Given the description of an element on the screen output the (x, y) to click on. 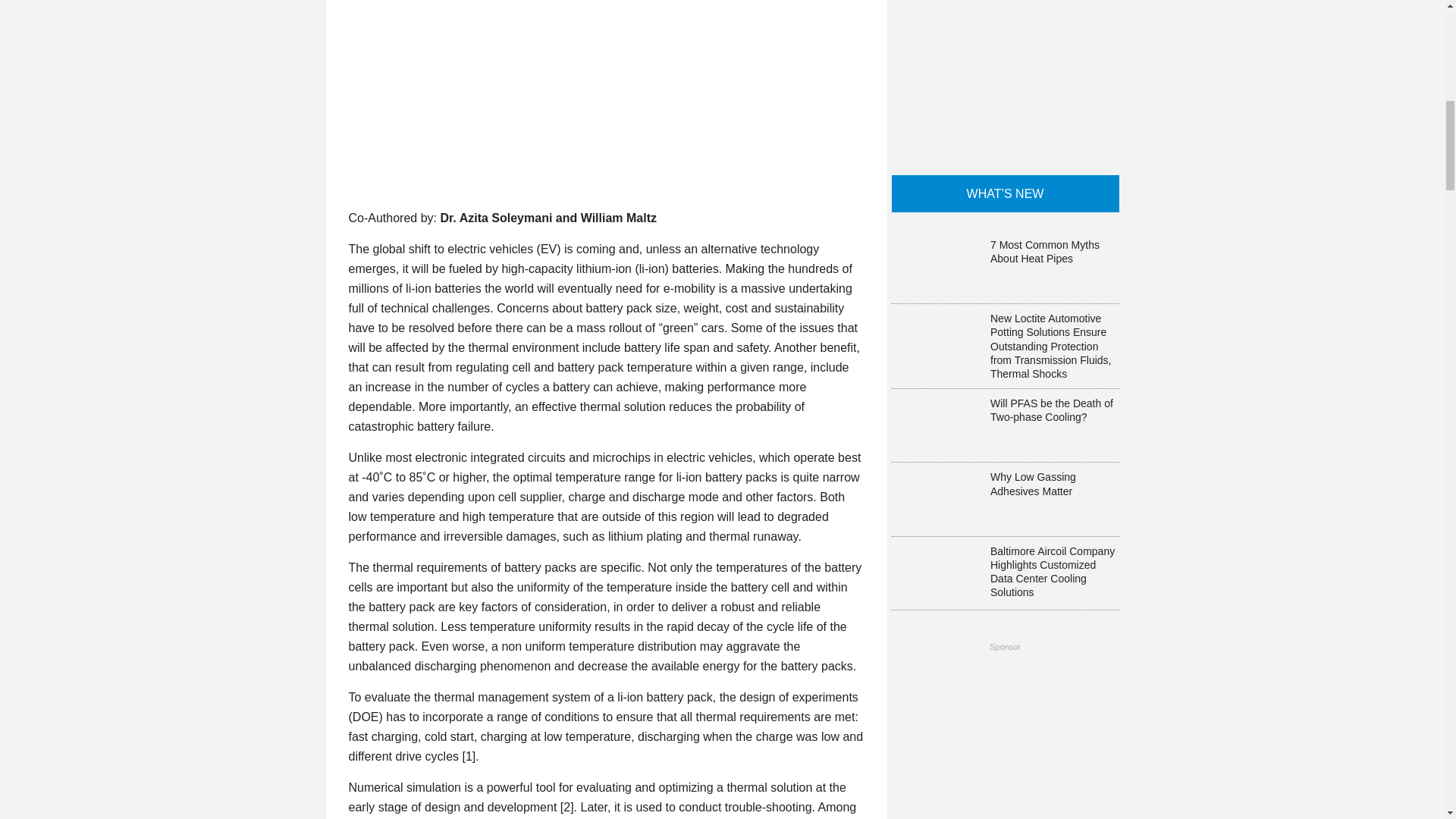
3rd party ad content (1005, 738)
3rd party ad content (1005, 72)
